Given the description of an element on the screen output the (x, y) to click on. 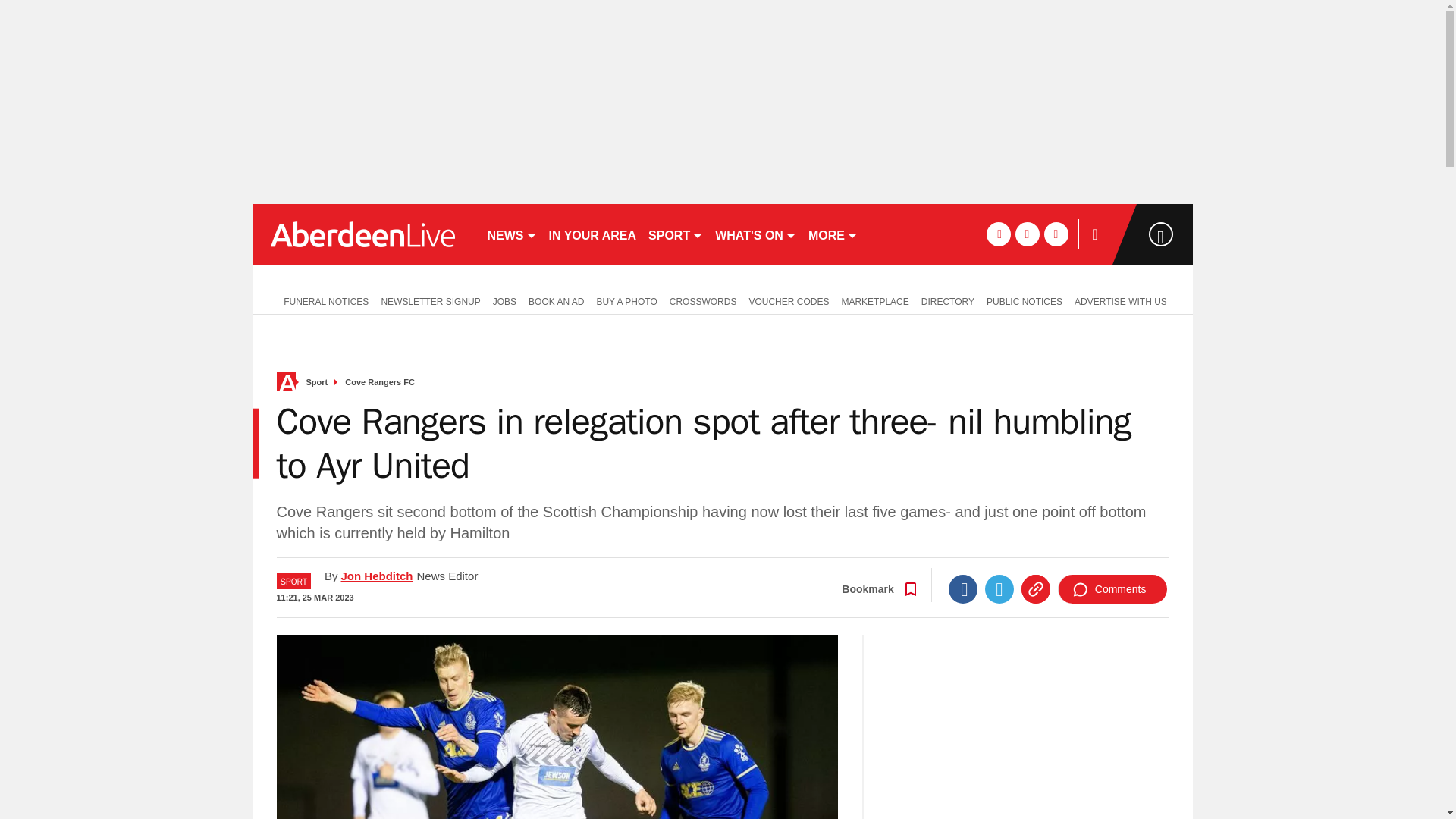
BUY A PHOTO (625, 300)
twitter (1026, 233)
facebook (997, 233)
aberdeenlive (362, 233)
NEWS (510, 233)
JOBS (504, 300)
instagram (1055, 233)
NEWSLETTER SIGNUP (430, 300)
MORE (832, 233)
CROSSWORDS (702, 300)
